Given the description of an element on the screen output the (x, y) to click on. 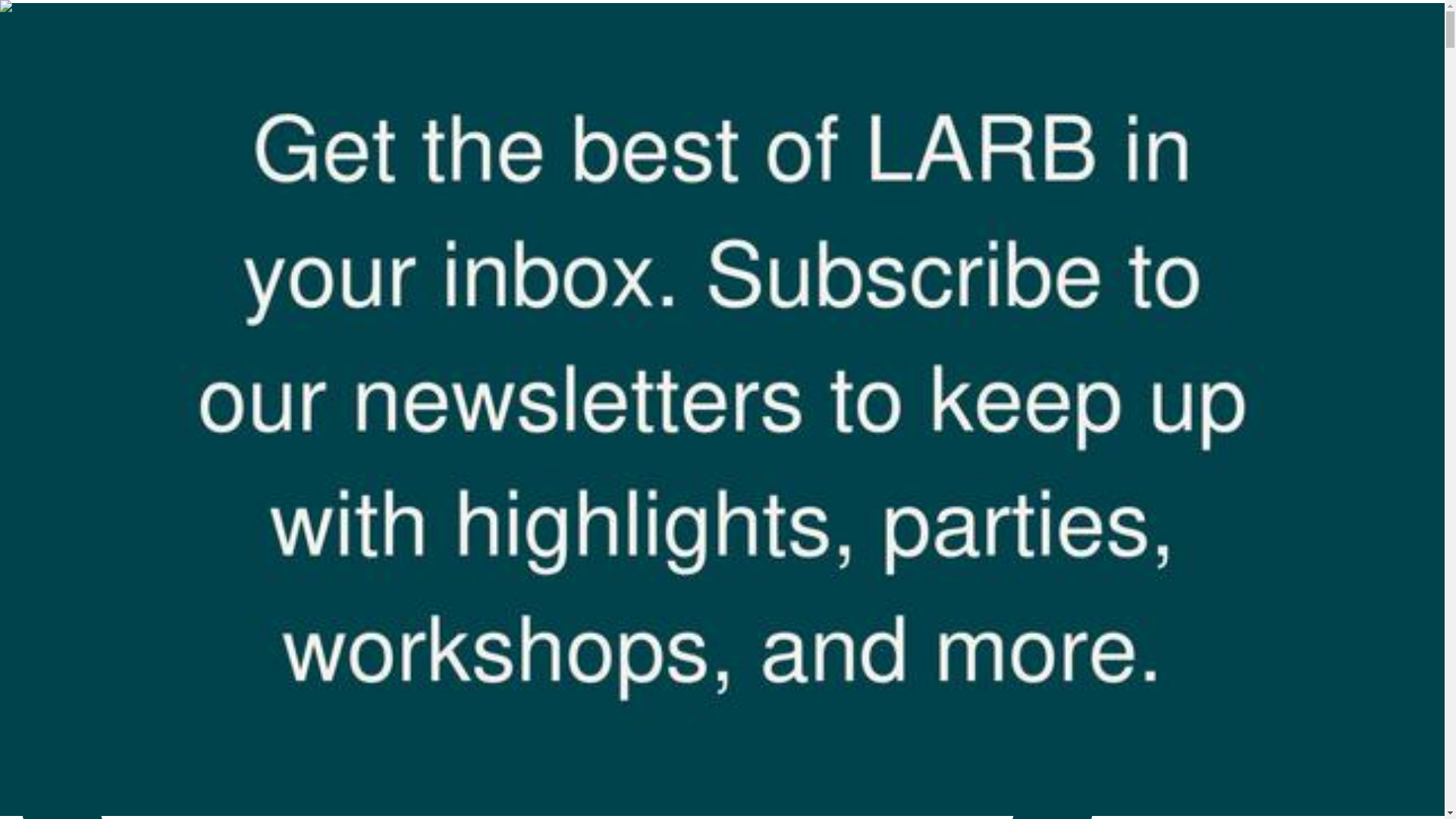
Supporters (62, 45)
Volunteer (59, 59)
Archive (55, 72)
About LARB (68, 18)
Contact (55, 86)
Masthead (59, 31)
